Given the description of an element on the screen output the (x, y) to click on. 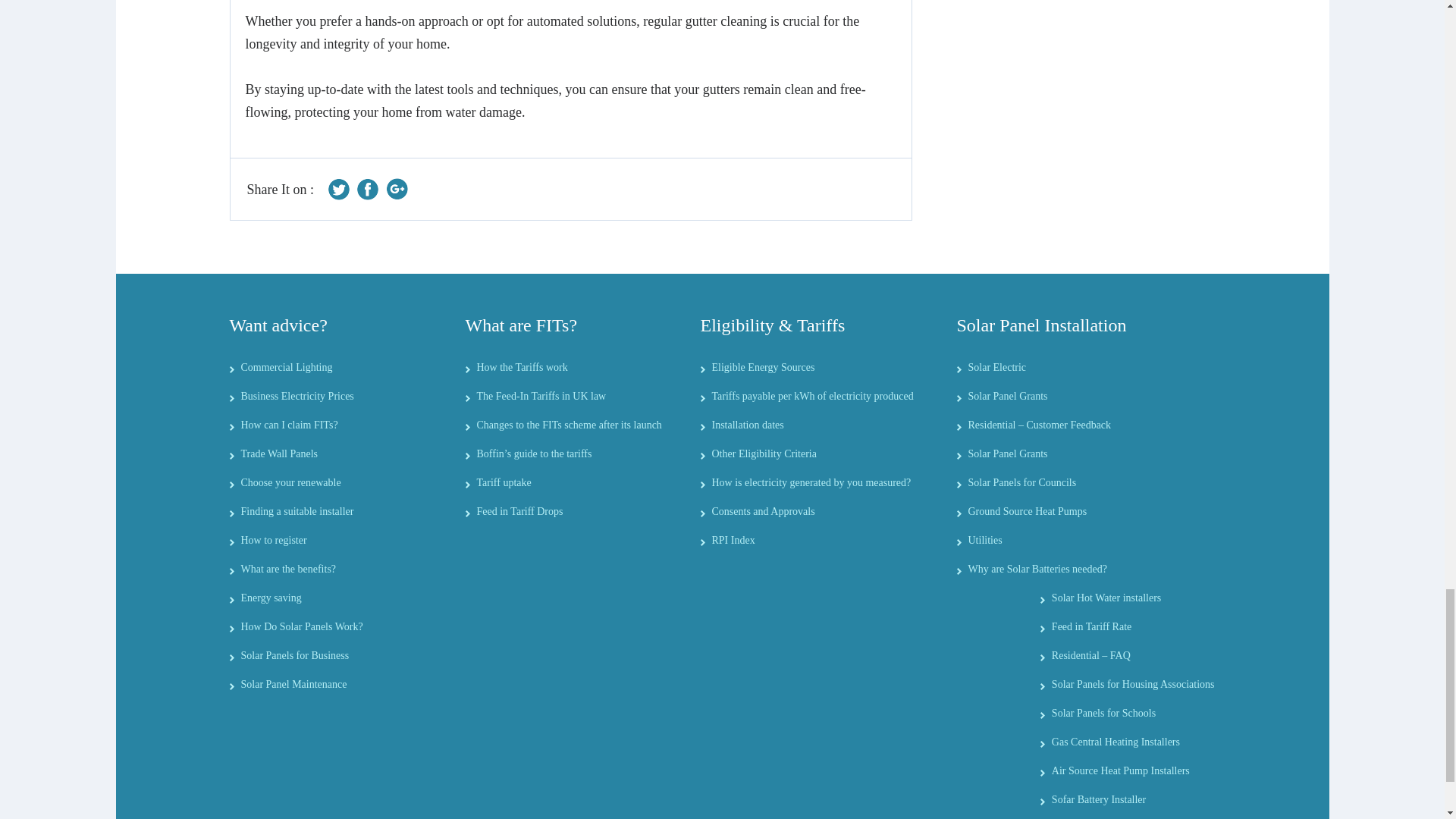
Twitter (339, 188)
Business Electricity Prices (297, 396)
Commercial Lighting (287, 367)
Google (396, 188)
Facebook (367, 188)
